Given the description of an element on the screen output the (x, y) to click on. 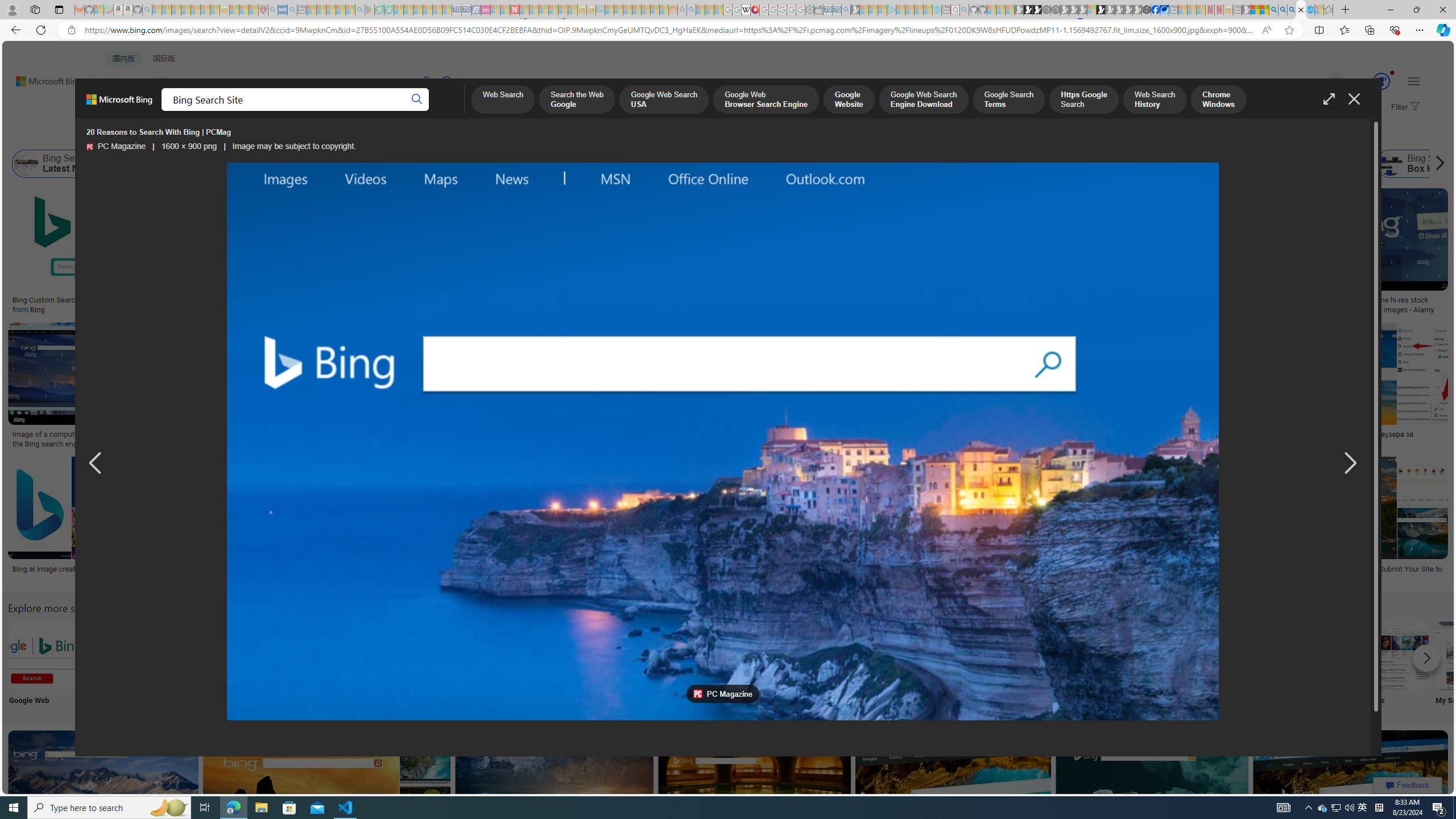
Image may be subject to copyright. (293, 146)
Web Searching | Computer Applications for ManagersSave (853, 521)
20 Reasons to Search With Bing | PCMag (648, 299)
Date (336, 135)
Bing Advanced Search Tricks You Should Know (457, 299)
Type (212, 135)
BingSave (369, 521)
Bing - SEOLend (219, 299)
favicon PC Magazine (721, 693)
